Given the description of an element on the screen output the (x, y) to click on. 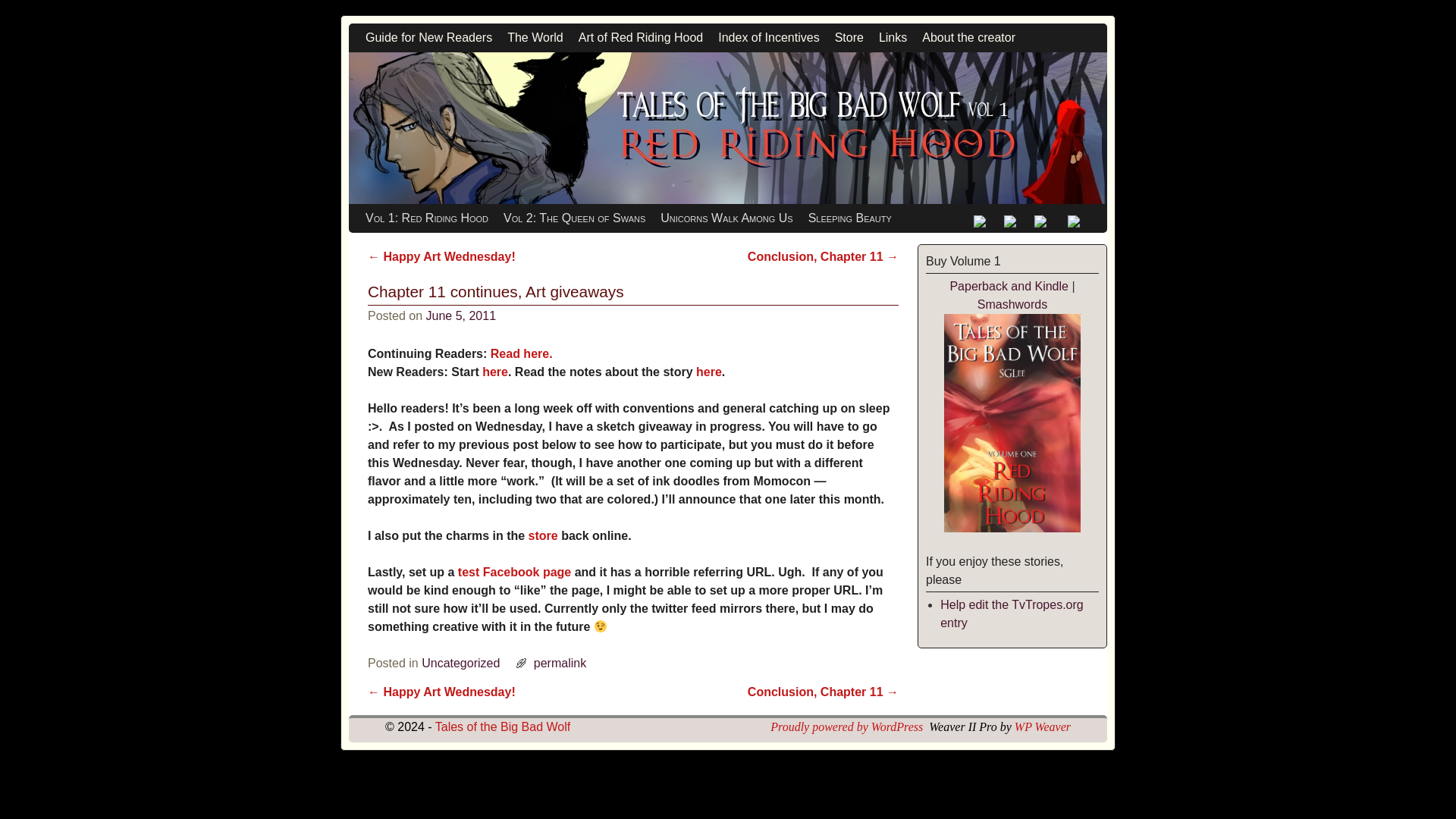
Sleeping Beauty (849, 217)
Store (848, 37)
Permalink to Chapter 11 continues, Art giveaways (560, 662)
5:05 pm (461, 315)
Vol 1: Red Riding Hood (427, 217)
wordpress.org (846, 726)
June 5, 2011 (461, 315)
Read here. (521, 353)
The World (534, 37)
Tales of the Big Bad Wolf (727, 127)
